Given the description of an element on the screen output the (x, y) to click on. 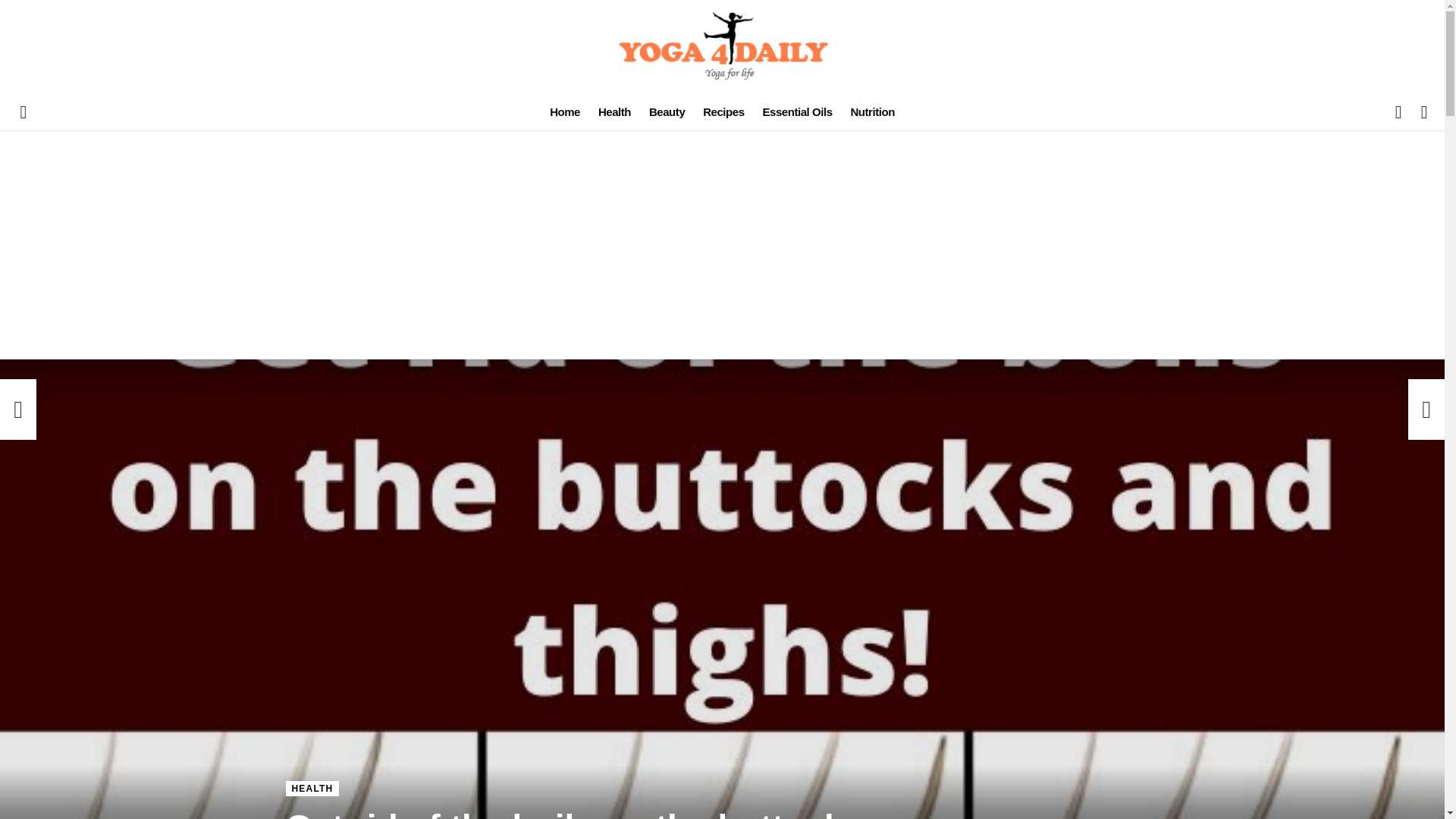
Home (564, 111)
Menu (22, 111)
Nutrition (872, 111)
Essential Oils (797, 111)
Health (615, 111)
Beauty (667, 111)
Recipes (723, 111)
Sign up (1286, 225)
HEALTH (312, 788)
